Given the description of an element on the screen output the (x, y) to click on. 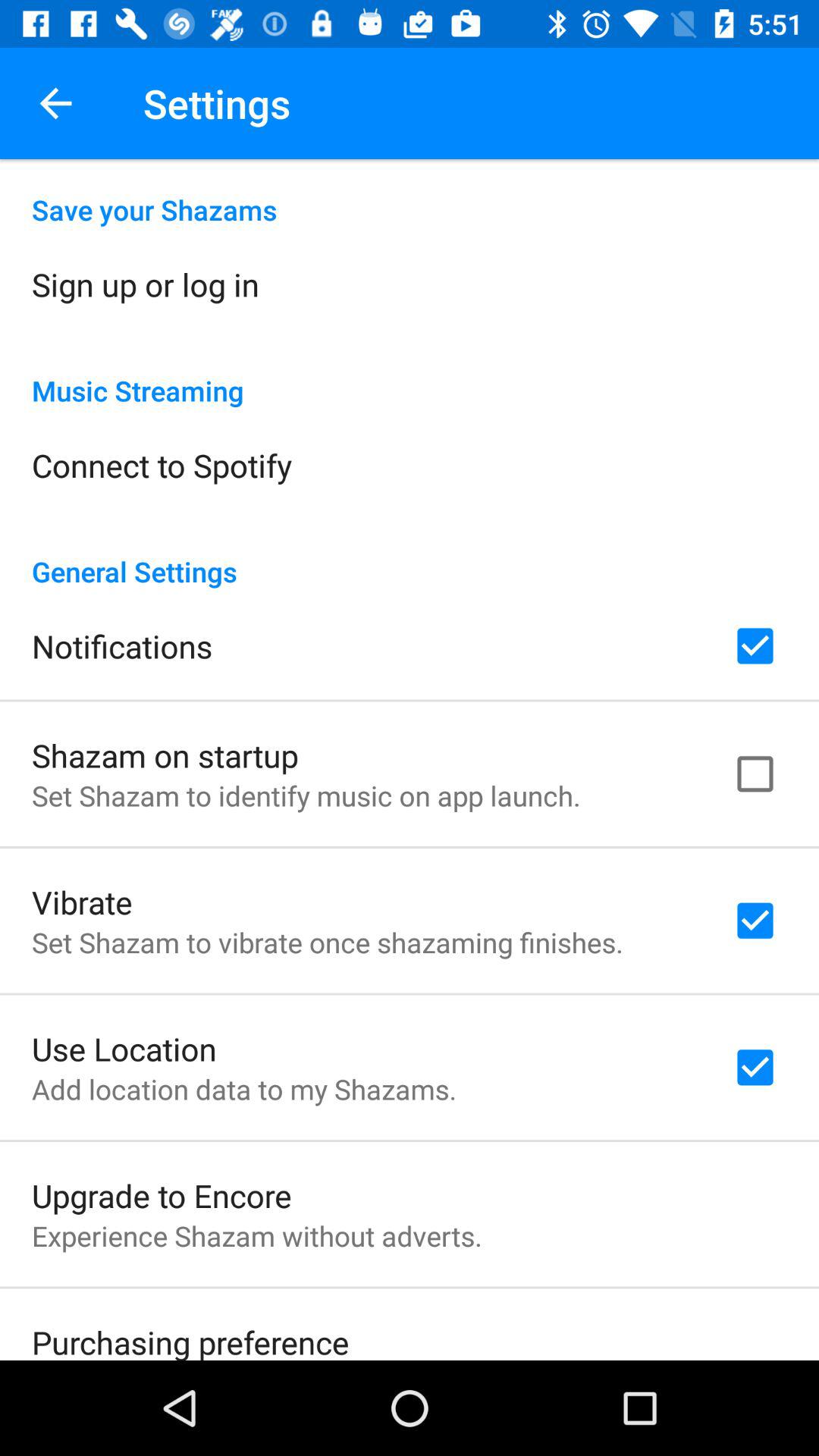
select the save your shazams item (409, 193)
